Given the description of an element on the screen output the (x, y) to click on. 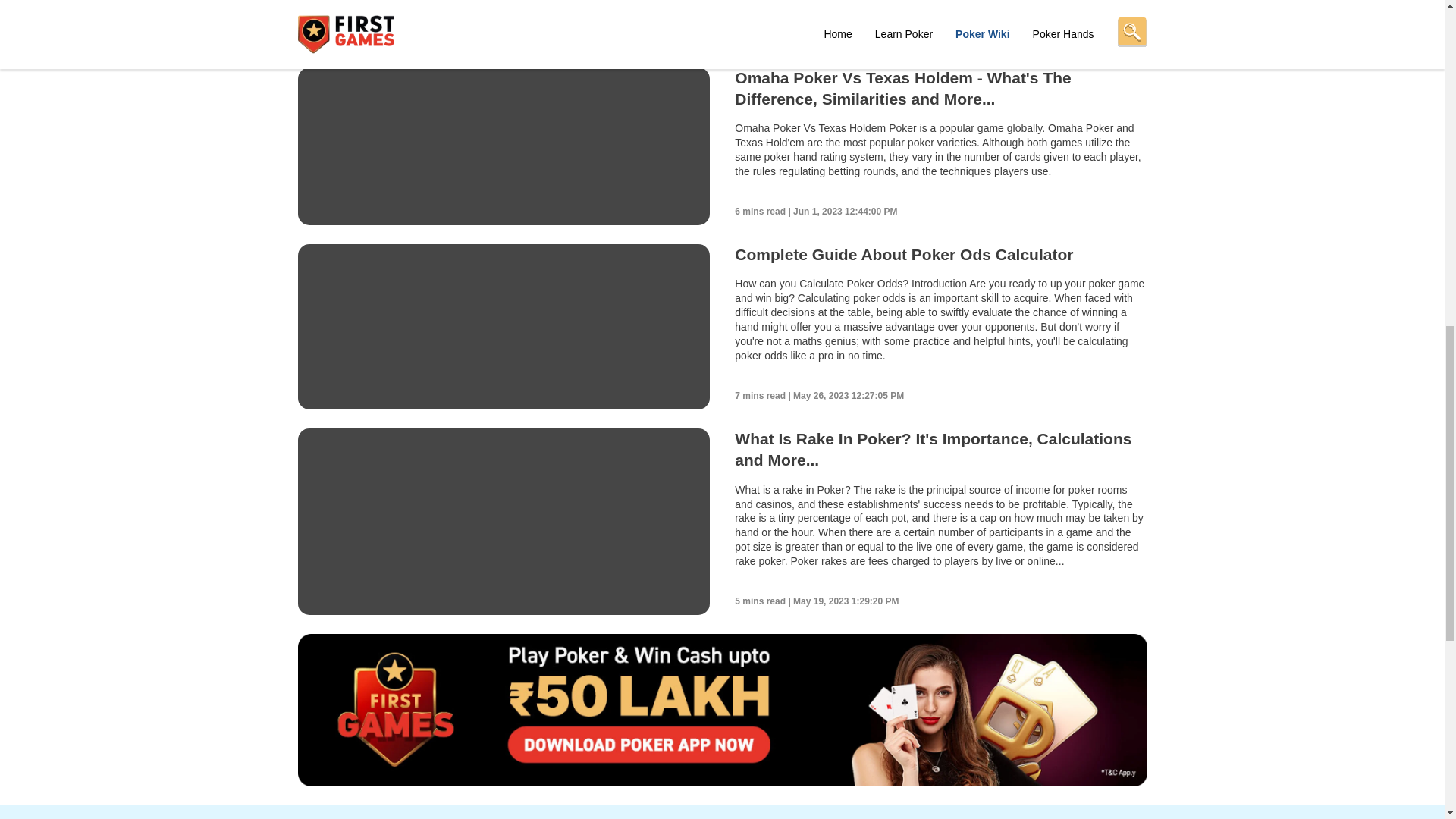
Complete Guide About Poker Ods Calculator (904, 253)
